Given the description of an element on the screen output the (x, y) to click on. 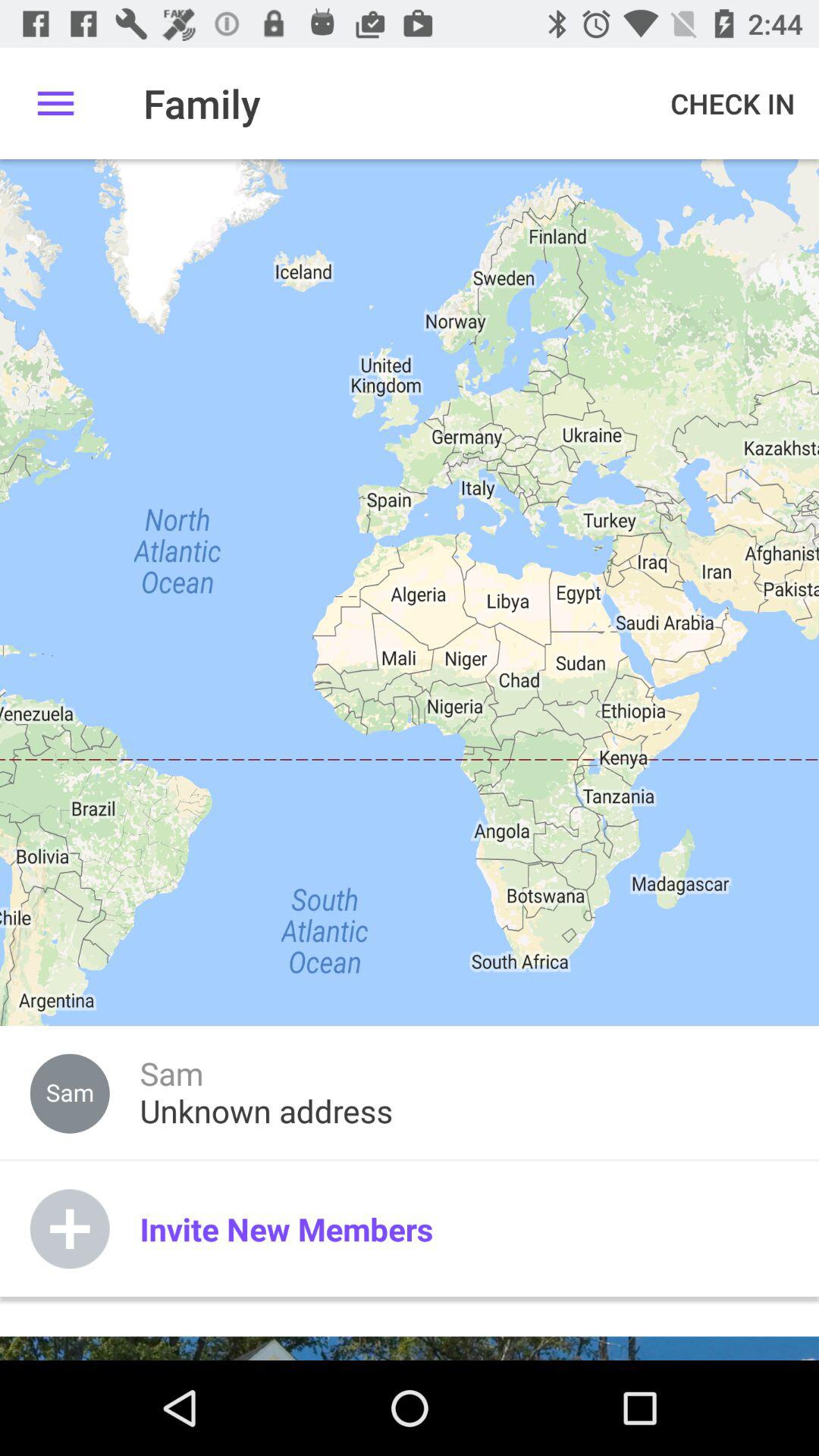
select the check in (732, 103)
